Given the description of an element on the screen output the (x, y) to click on. 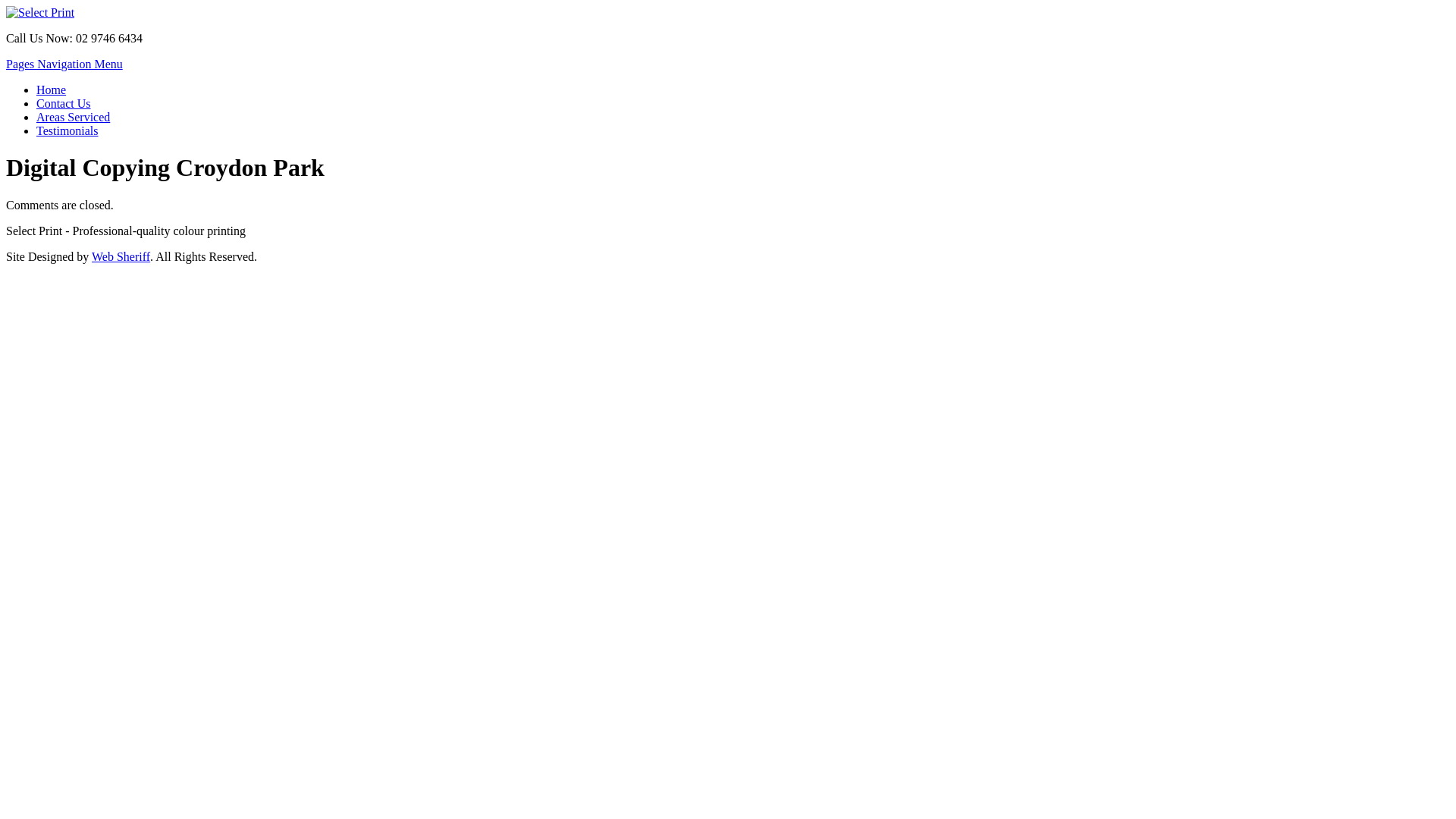
Home Element type: text (50, 89)
Pages Navigation Menu Element type: text (64, 63)
Contact Us Element type: text (63, 103)
Web Sheriff Element type: text (120, 256)
Areas Serviced Element type: text (72, 116)
Testimonials Element type: text (67, 130)
